Given the description of an element on the screen output the (x, y) to click on. 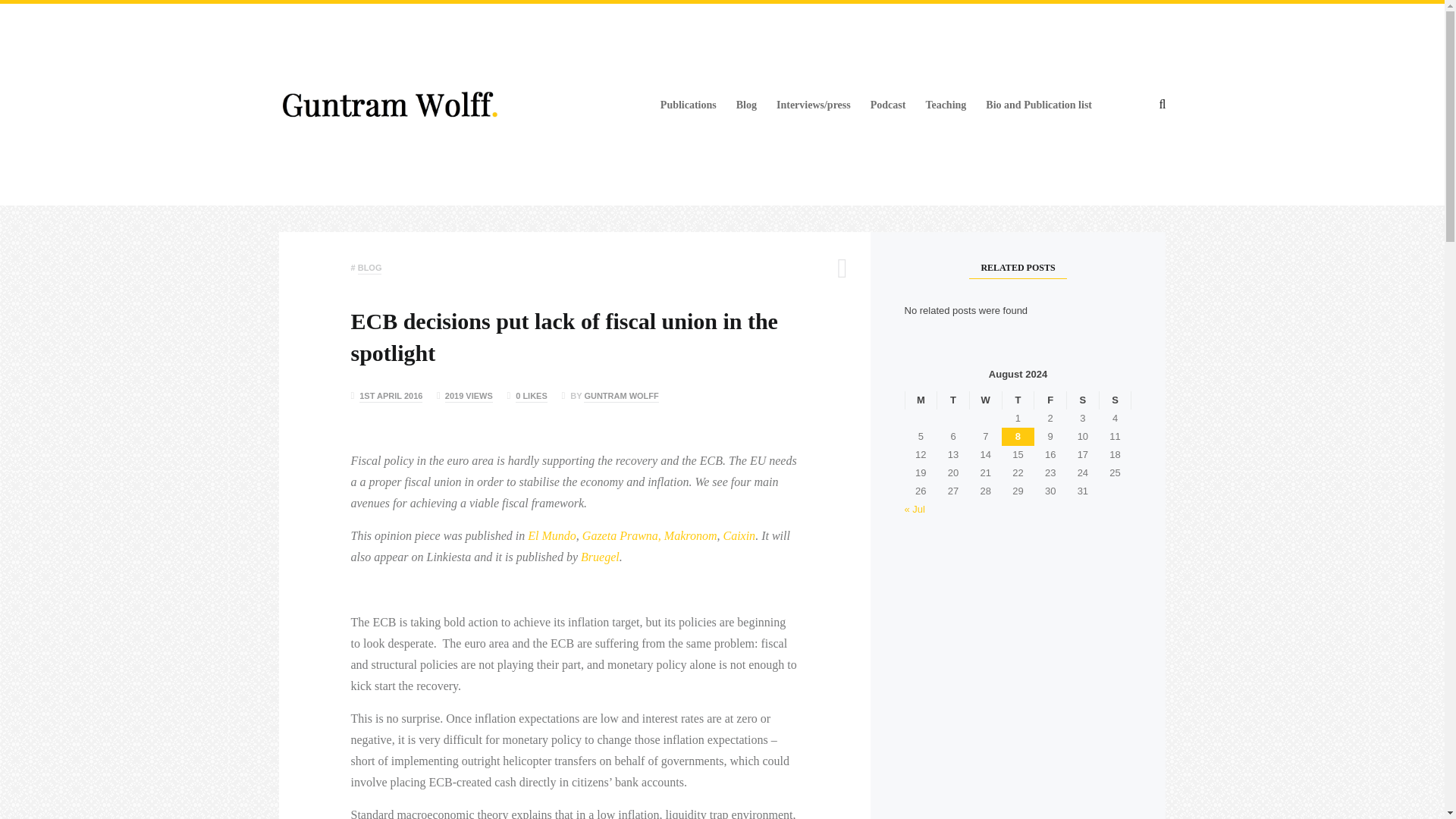
Teaching (945, 105)
Likes (526, 395)
Bio and Publication list (1038, 105)
Makronom (690, 535)
Caixin (738, 535)
Gazeta Prawna, (621, 535)
Podcast (887, 105)
Monday (920, 400)
Publications (688, 105)
1ST APRIL 2016 (390, 396)
